Given the description of an element on the screen output the (x, y) to click on. 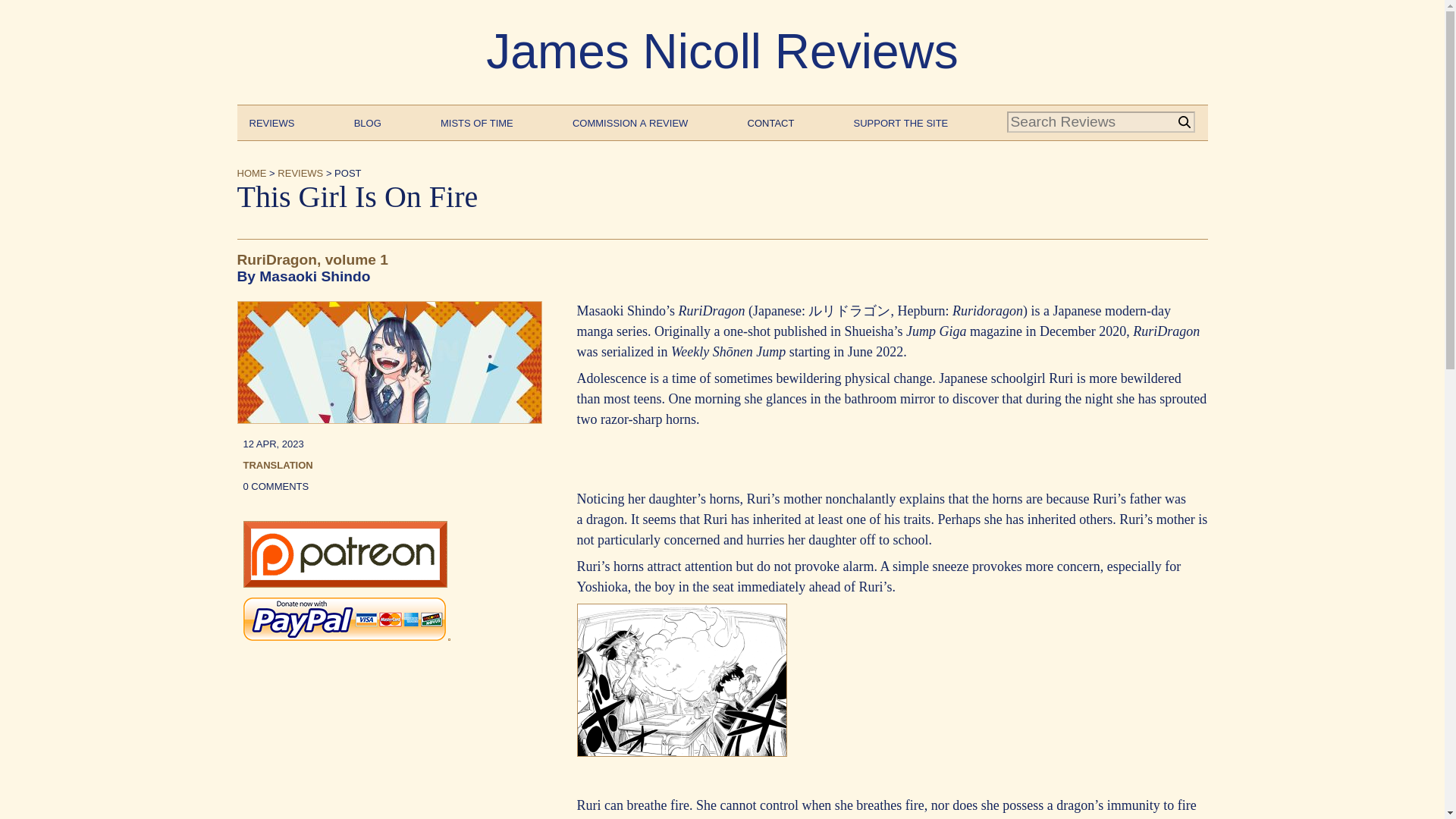
Translation (278, 463)
Commission a Review (629, 121)
Mists of Time (477, 121)
James Nicoll Reviews (722, 51)
Support the Site (901, 121)
Blog (367, 121)
Reviews (300, 171)
Reviews (271, 121)
Home (250, 171)
Patreon (344, 582)
